Given the description of an element on the screen output the (x, y) to click on. 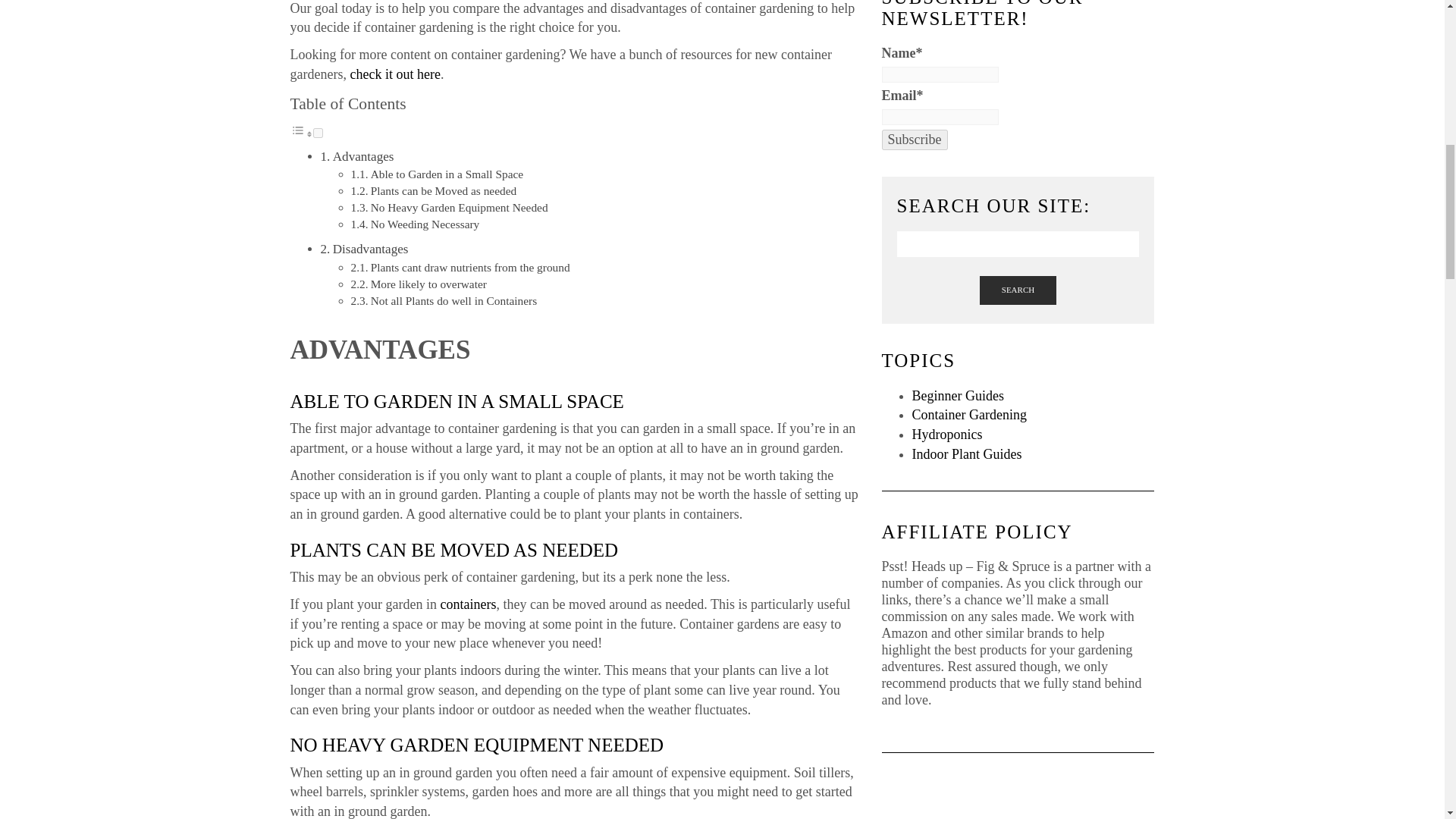
Not all Plants do well in Containers (454, 300)
More likely to overwater (428, 283)
Not all Plants do well in Containers (454, 300)
Able to Garden in a Small Space (447, 173)
containers (467, 604)
Subscribe (913, 139)
No Weeding Necessary (425, 223)
Plants cant draw nutrients from the ground (470, 267)
Able to Garden in a Small Space (447, 173)
Advantages (363, 156)
